Given the description of an element on the screen output the (x, y) to click on. 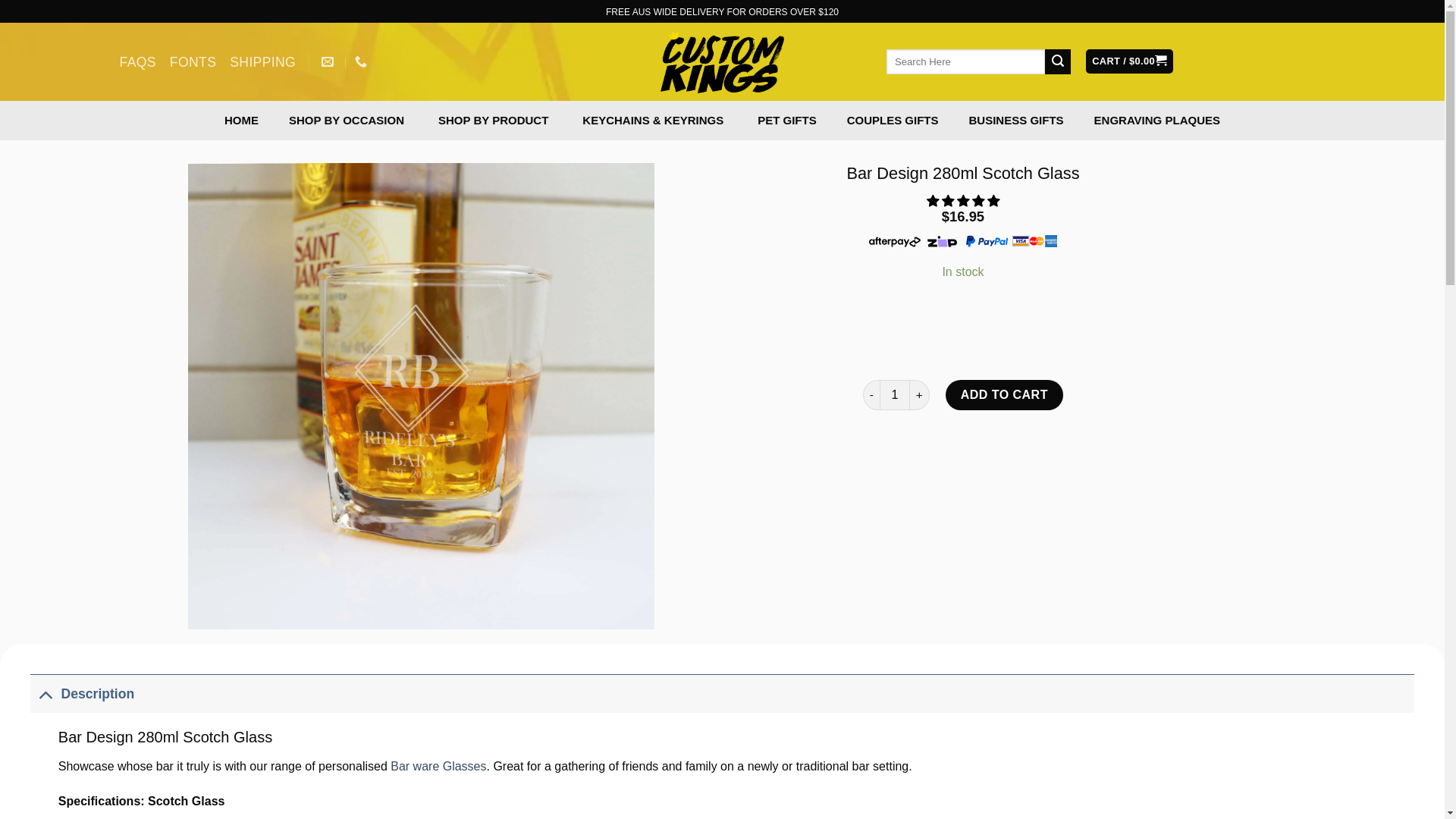
CustomKings - Personalised Giftware for Every Occasion Element type: hover (721, 61)
+61249206563 Element type: hover (362, 61)
FONTS Element type: text (192, 61)
hello@customkings.com.au Element type: hover (329, 61)
CART / $0.00 Element type: text (1129, 61)
KEYCHAINS & KEYRINGS Element type: text (654, 120)
Description Element type: text (722, 693)
BUSINESS GIFTS Element type: text (1016, 120)
Bar ware Glasses Element type: text (438, 765)
PET GIFTS Element type: text (786, 120)
ENGRAVING PLAQUES Element type: text (1157, 120)
SHOP BY OCCASION Element type: text (348, 120)
FAQS Element type: text (137, 61)
ADD TO CART Element type: text (1003, 394)
SHIPPING Element type: text (262, 61)
Search Element type: text (1057, 62)
HOME Element type: text (241, 120)
Bar design 280ml scotch glass 1 Element type: hover (421, 395)
COUPLES GIFTS Element type: text (892, 120)
Skip to content Element type: text (0, 0)
SHOP BY PRODUCT Element type: text (495, 120)
